Given the description of an element on the screen output the (x, y) to click on. 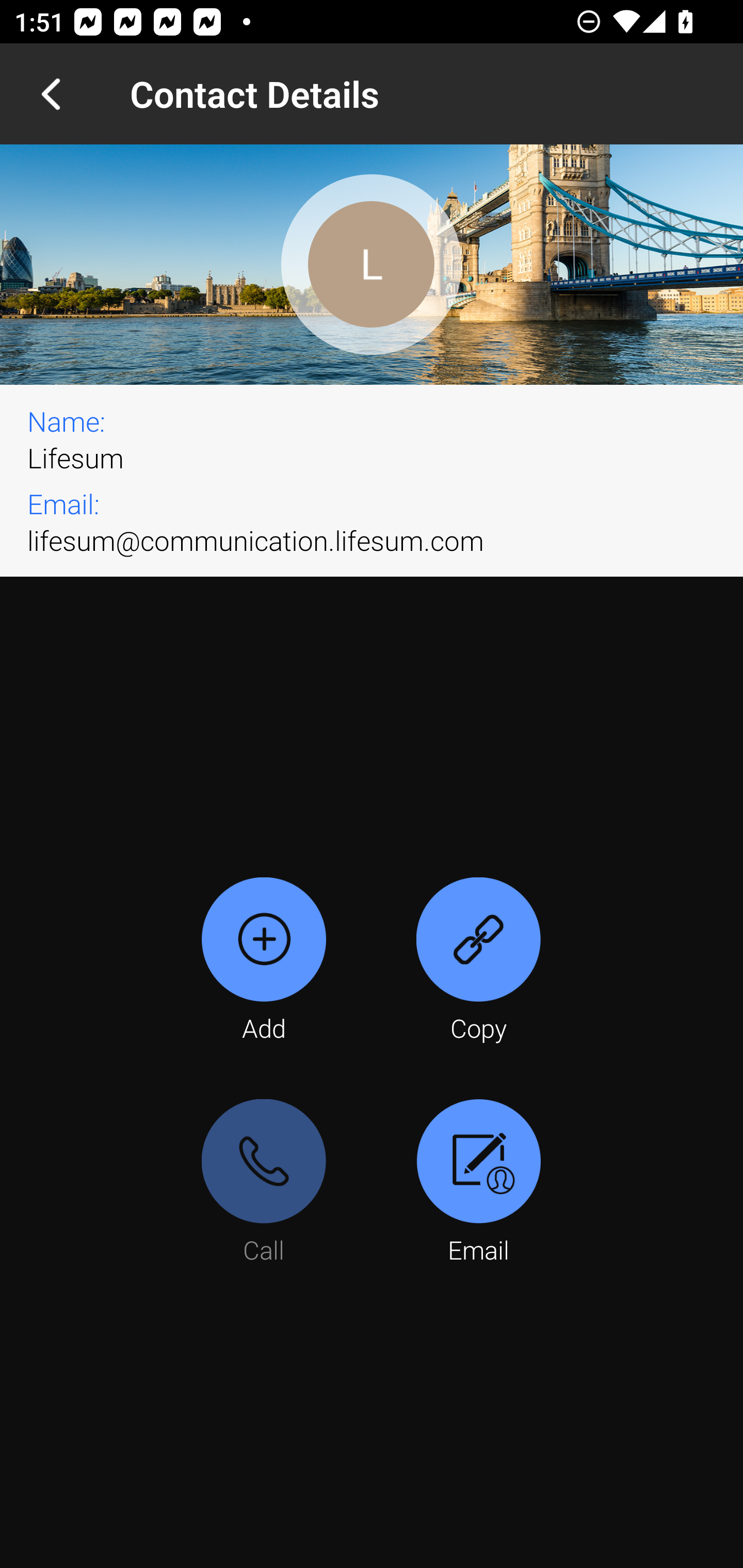
Navigate up (50, 93)
Add (264, 961)
Copy (478, 961)
Call (264, 1182)
Email (478, 1182)
